Given the description of an element on the screen output the (x, y) to click on. 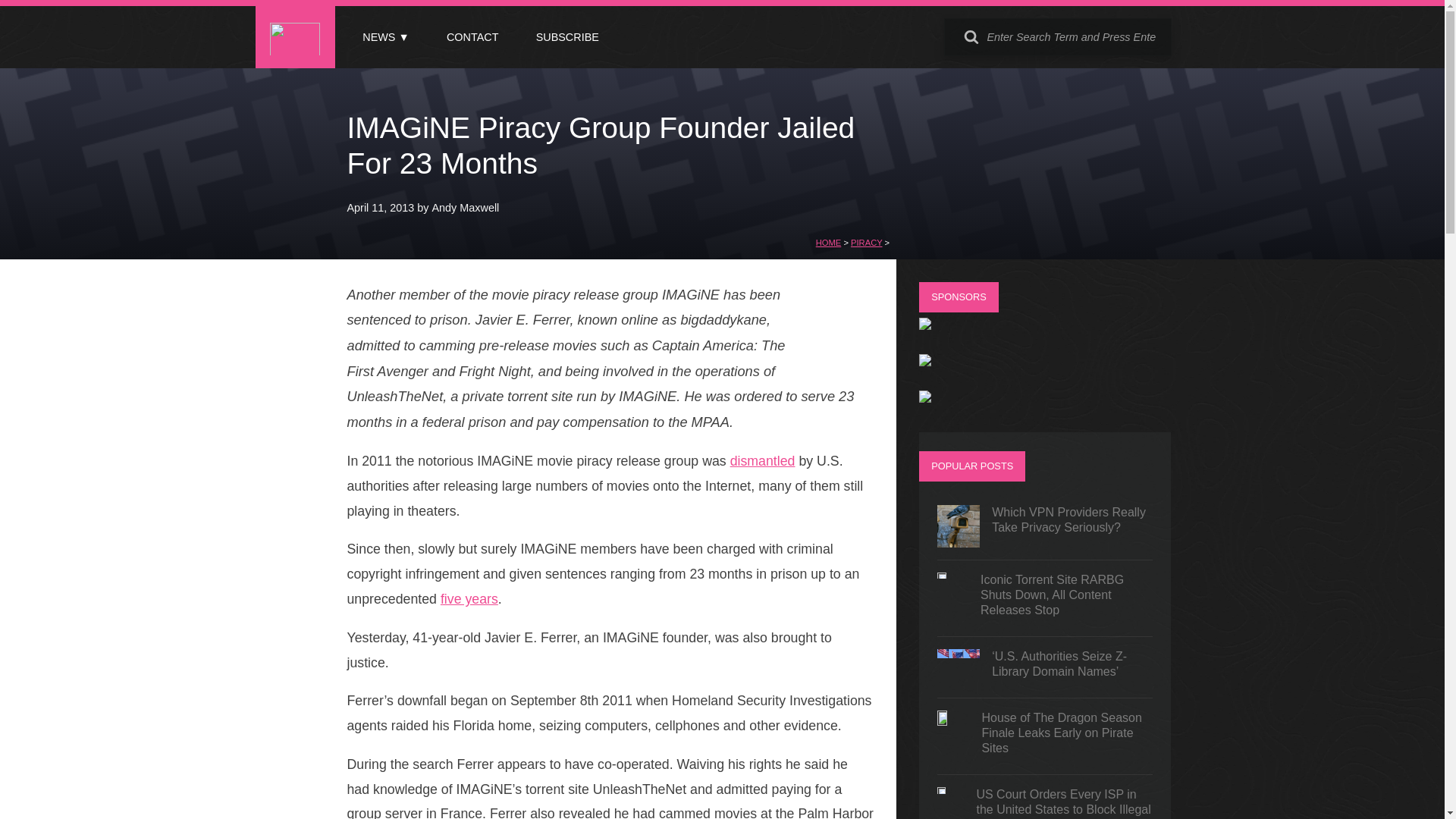
Private Internet Access (924, 325)
Go to TorrentFreak. (828, 242)
CONTACT (471, 37)
PIRACY (866, 242)
dismantled (762, 460)
Andy Maxwell (465, 207)
five years (469, 598)
Go to the Piracy category archives. (866, 242)
SUBSCRIBE (566, 37)
HOME (828, 242)
ExpressVPN (924, 361)
Which VPN Providers Really Take Privacy Seriously? (1045, 526)
